Given the description of an element on the screen output the (x, y) to click on. 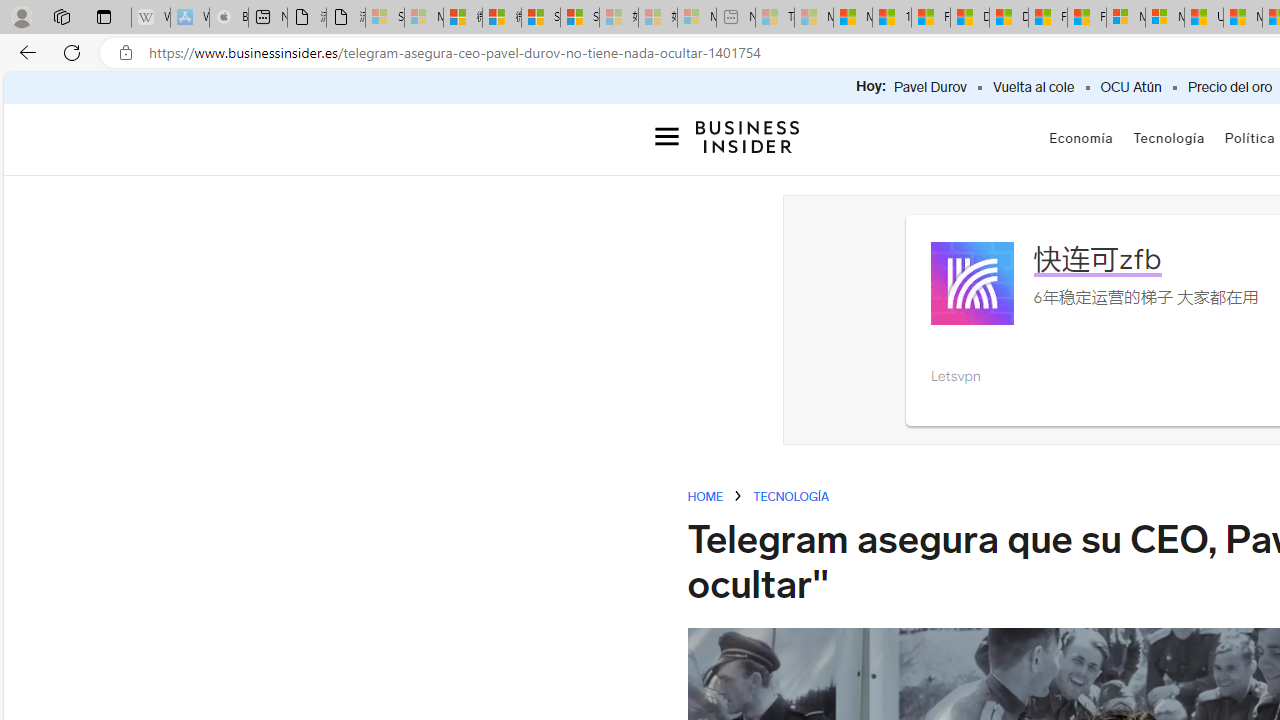
Food and Drink - MSN (930, 17)
Vuelta al cole (1033, 88)
Top Stories - MSN - Sleeping (774, 17)
Letsvpn (955, 376)
Logo BusinessInsider.es (748, 136)
